Given the description of an element on the screen output the (x, y) to click on. 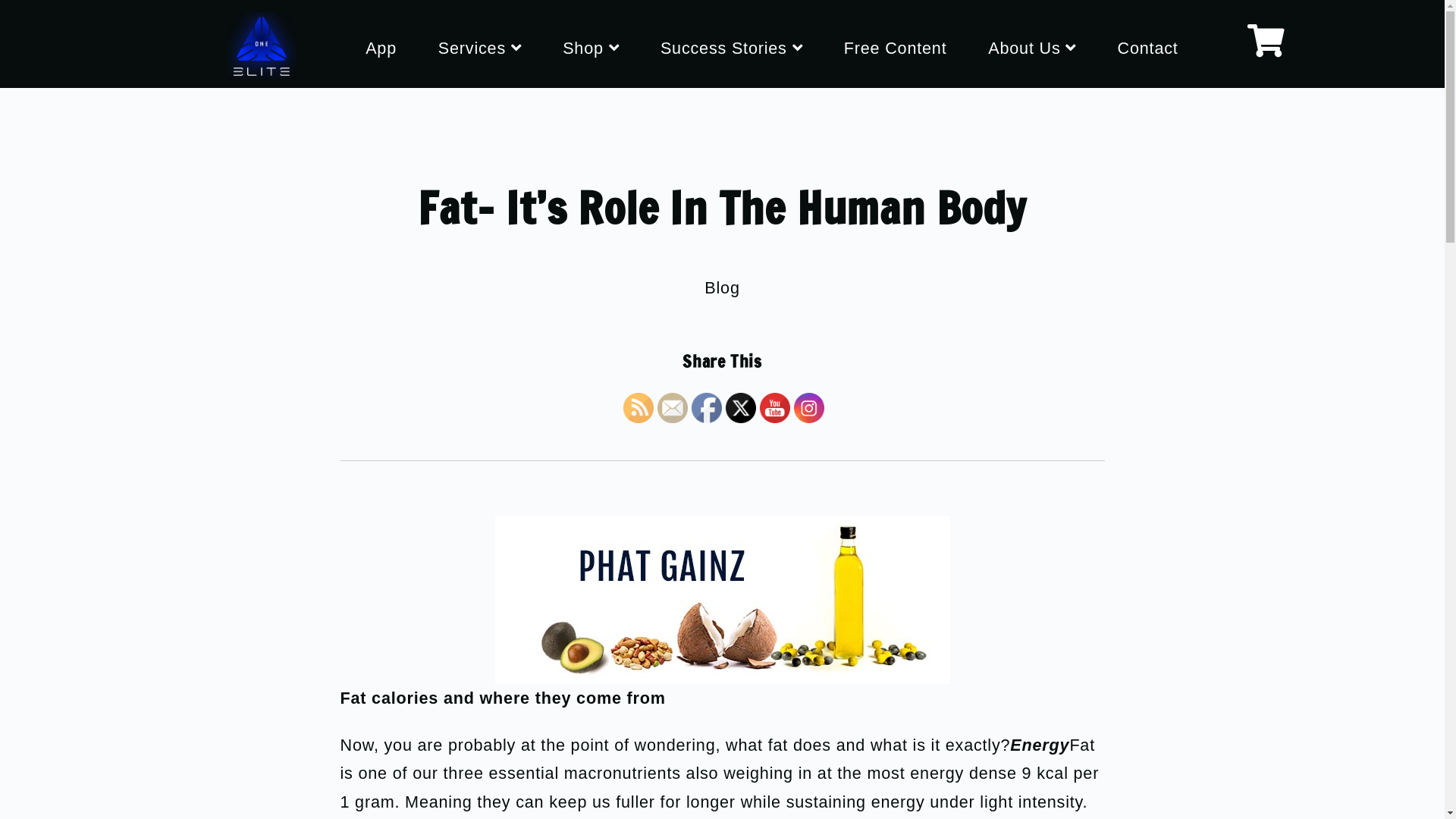
App Element type: text (380, 48)
Instagram Element type: hover (808, 407)
Success Stories Element type: text (731, 48)
About Us Element type: text (1032, 48)
YouTube Element type: hover (774, 407)
Shop Element type: text (590, 48)
Facebook Element type: hover (706, 407)
Follow by Email Element type: hover (671, 407)
RSS Element type: hover (638, 407)
Free Content Element type: text (895, 48)
Contact Element type: text (1147, 48)
Blog Element type: text (721, 287)
Twitter Element type: hover (739, 407)
Services Element type: text (479, 48)
